Given the description of an element on the screen output the (x, y) to click on. 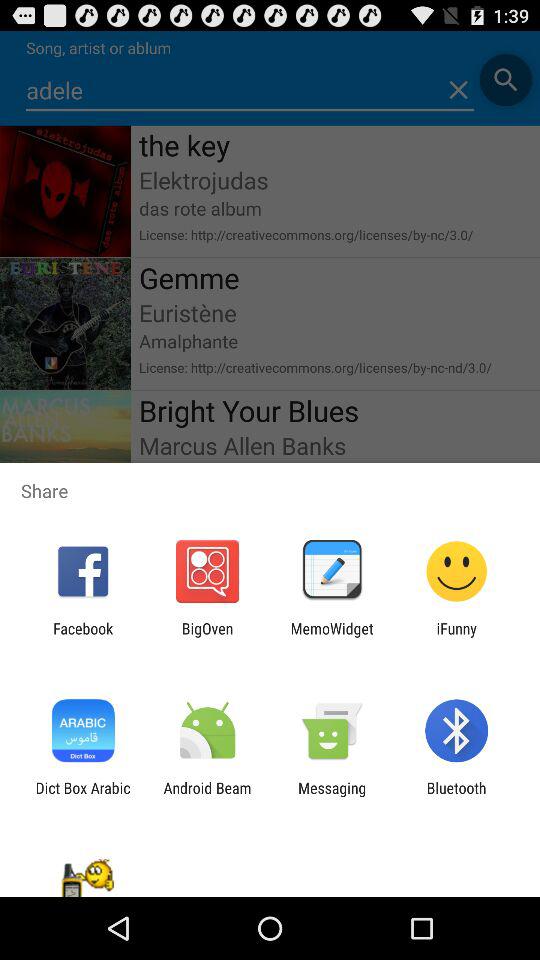
select the app to the left of messaging app (207, 796)
